Given the description of an element on the screen output the (x, y) to click on. 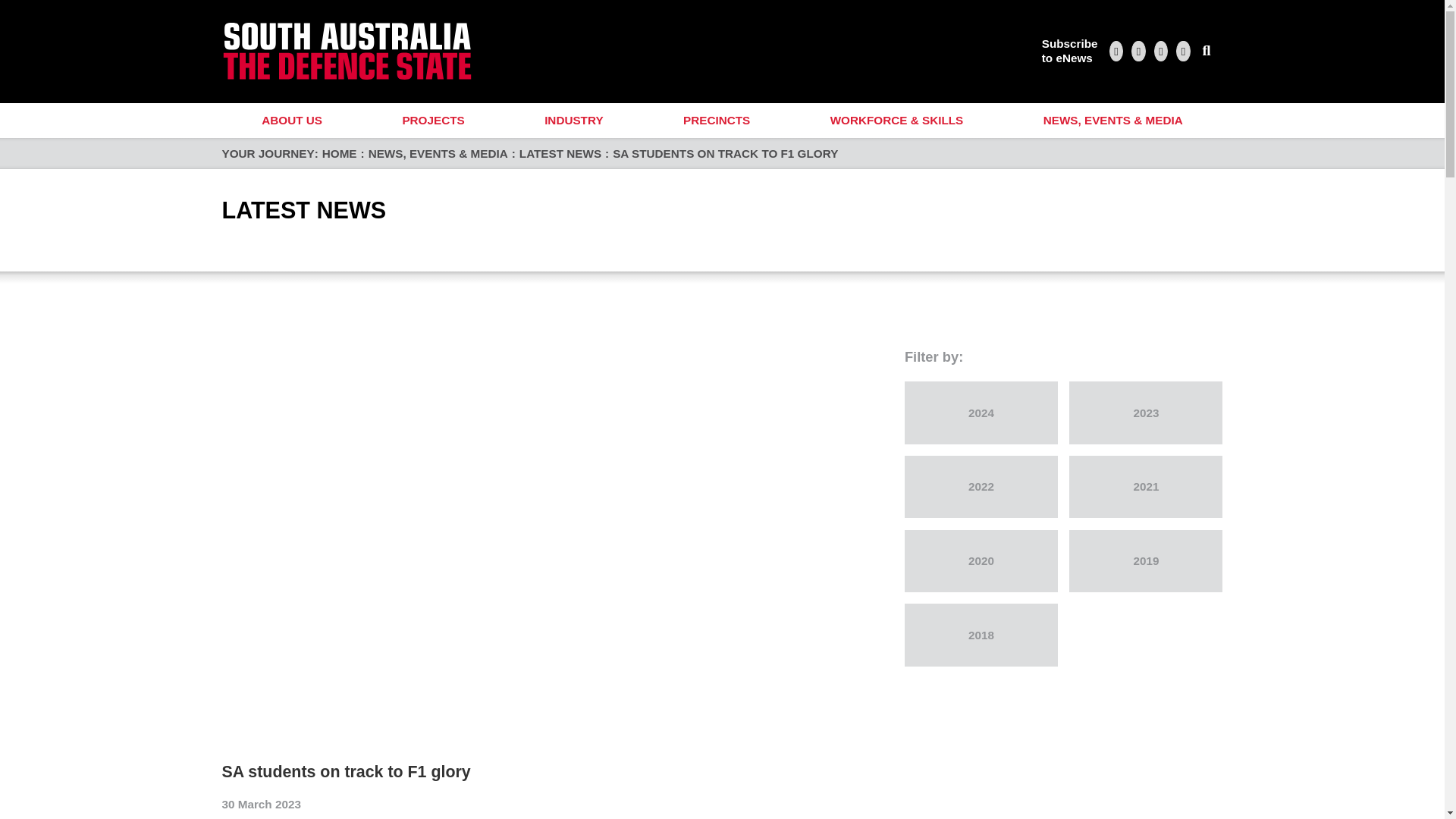
Search (1207, 50)
INDUSTRY (573, 120)
PROJECTS (433, 120)
ABOUT US (291, 120)
